Given the description of an element on the screen output the (x, y) to click on. 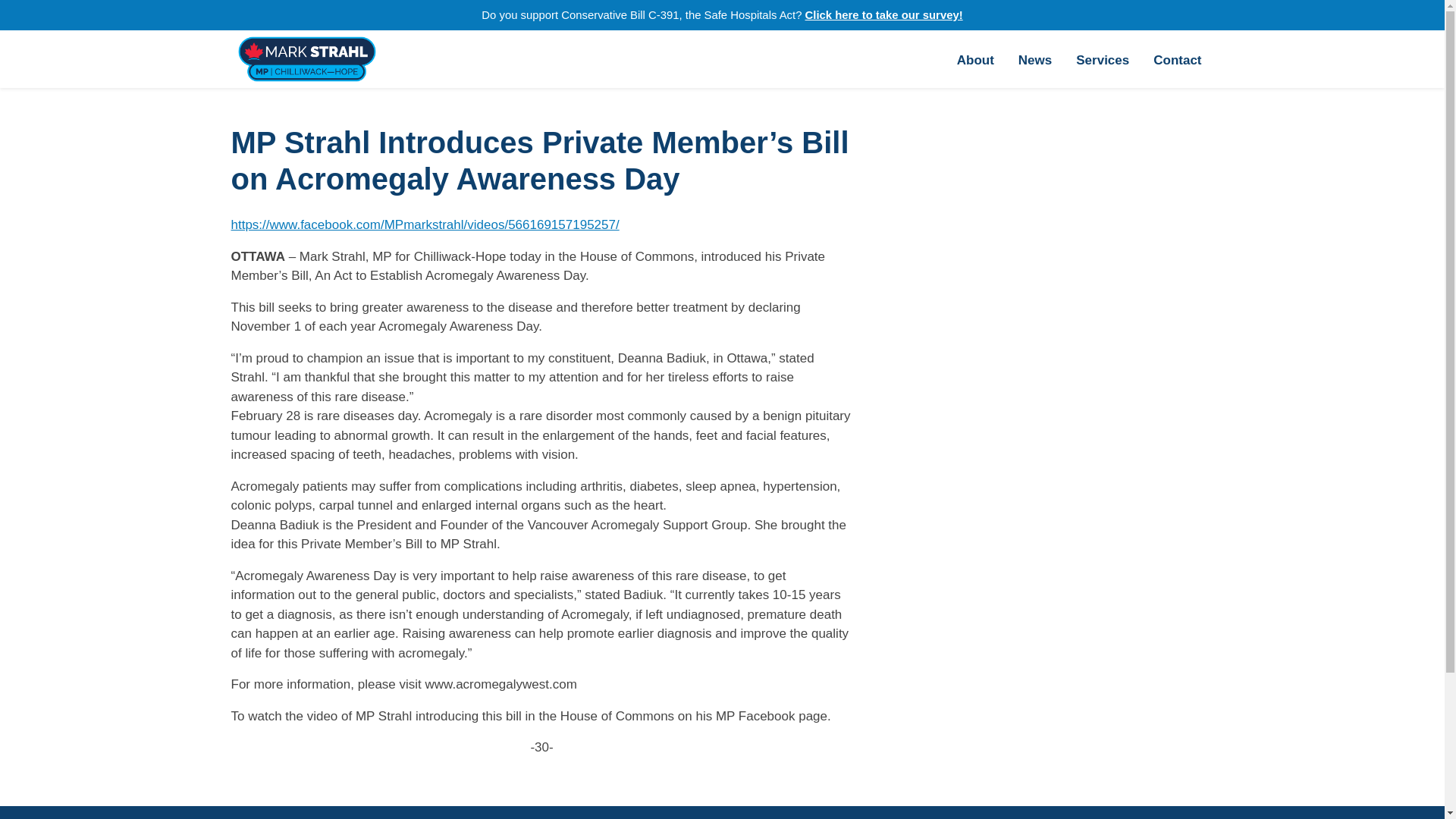
About (975, 59)
Services (1102, 59)
Contact (1176, 59)
News (1035, 59)
Click here to take our survey! (883, 15)
